Given the description of an element on the screen output the (x, y) to click on. 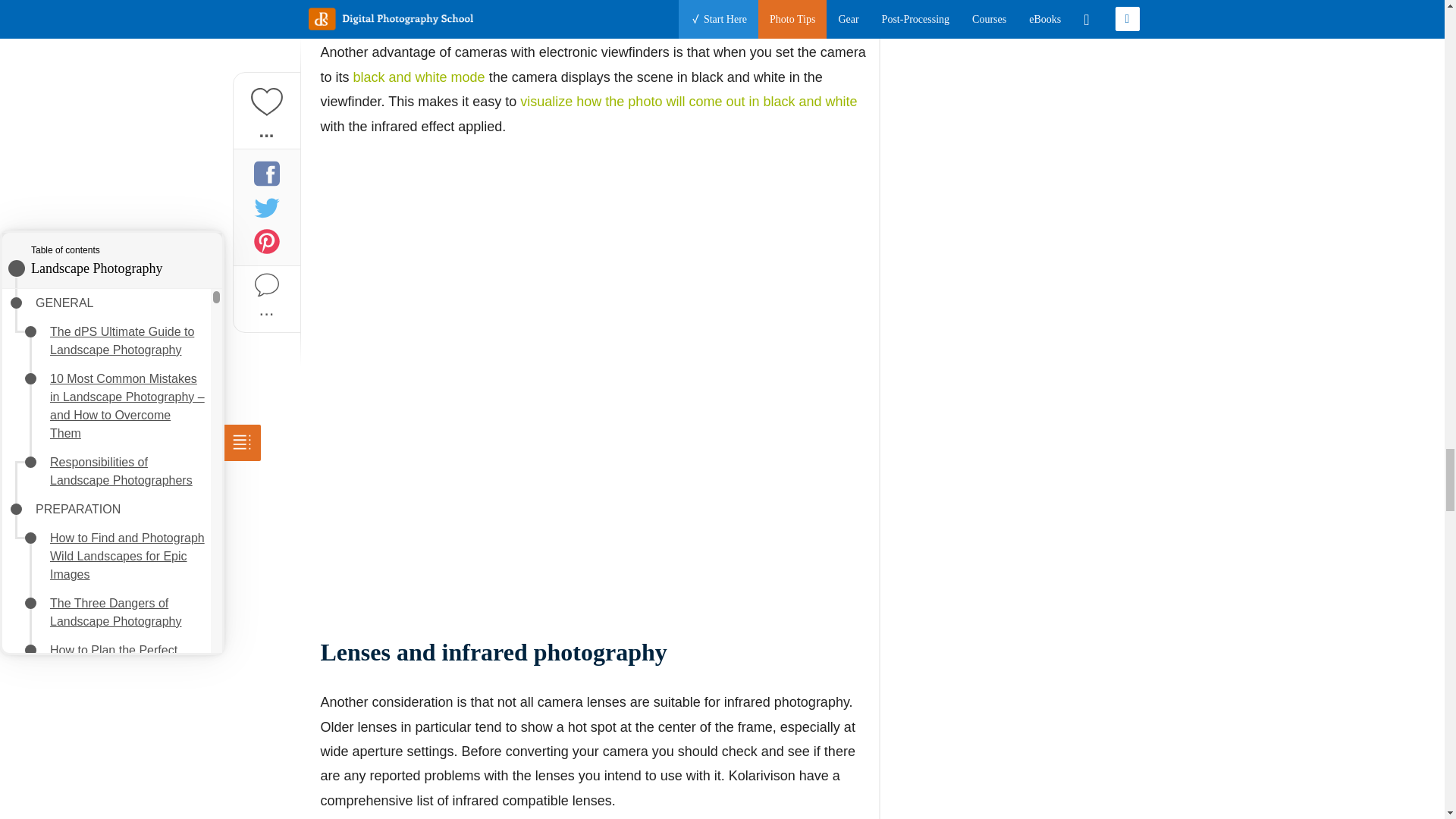
Full spectrum conversion (131, 133)
What is infrared photography? (106, 24)
Mirrorless advantage (120, 237)
720nm conversion (113, 155)
Infrared filters (101, 297)
Camera types and infrared conversions (118, 206)
Test first (86, 318)
Lenses and infrared photography (117, 267)
830nm conversion (113, 176)
What is an infrared conversion? (114, 64)
Types of infrared conversion (109, 103)
Conclusion (93, 340)
